Given the description of an element on the screen output the (x, y) to click on. 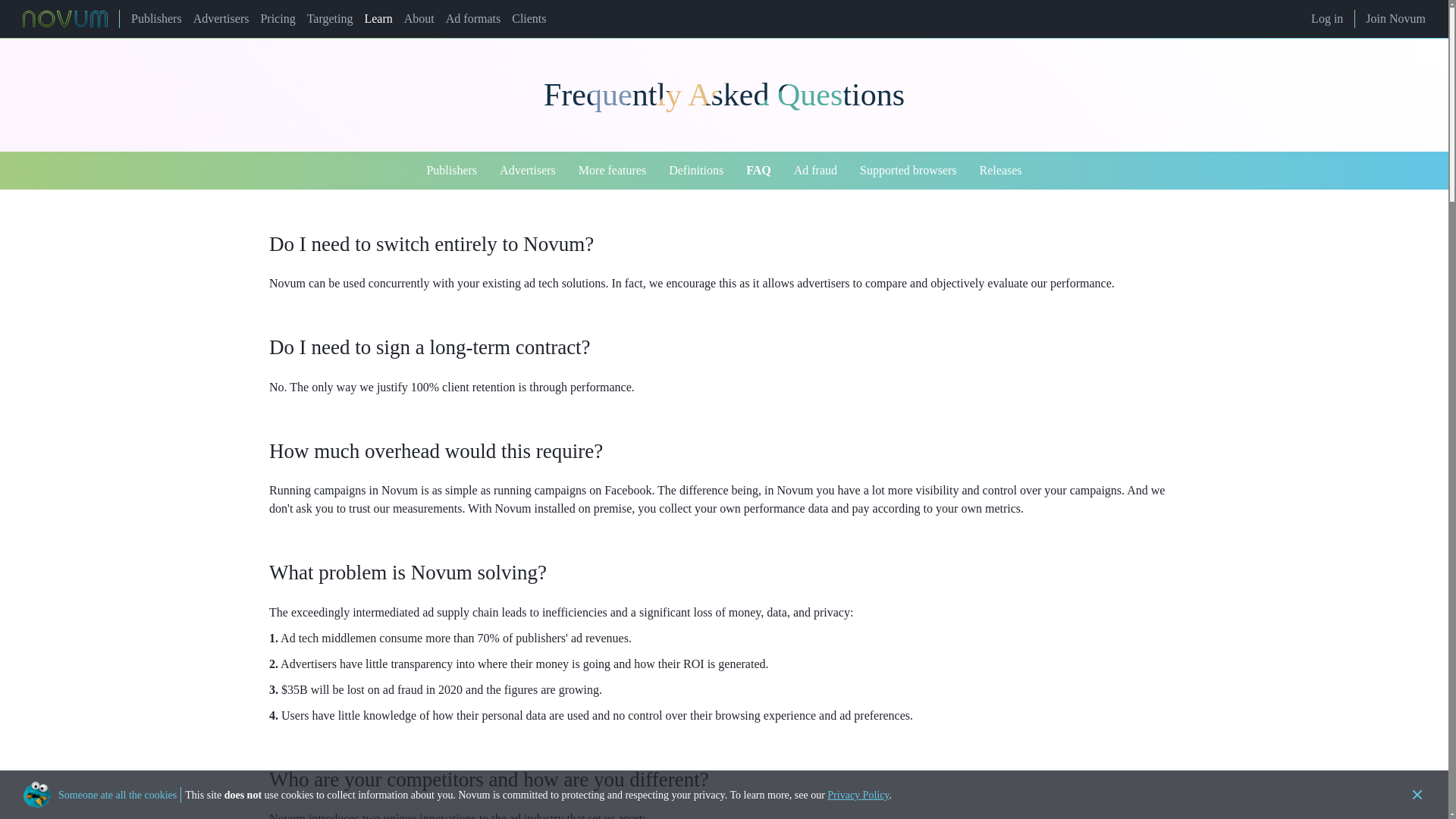
Clients (529, 18)
Definitions (696, 170)
Ad fraud (815, 170)
Supported browsers (908, 170)
About (418, 18)
Log in (1332, 18)
Ad formats (472, 18)
Join Novum (1395, 18)
Publishers (156, 18)
Pricing (277, 18)
Releases (995, 170)
Targeting (330, 18)
Learn (377, 18)
Advertisers (220, 18)
Publishers (456, 170)
